Given the description of an element on the screen output the (x, y) to click on. 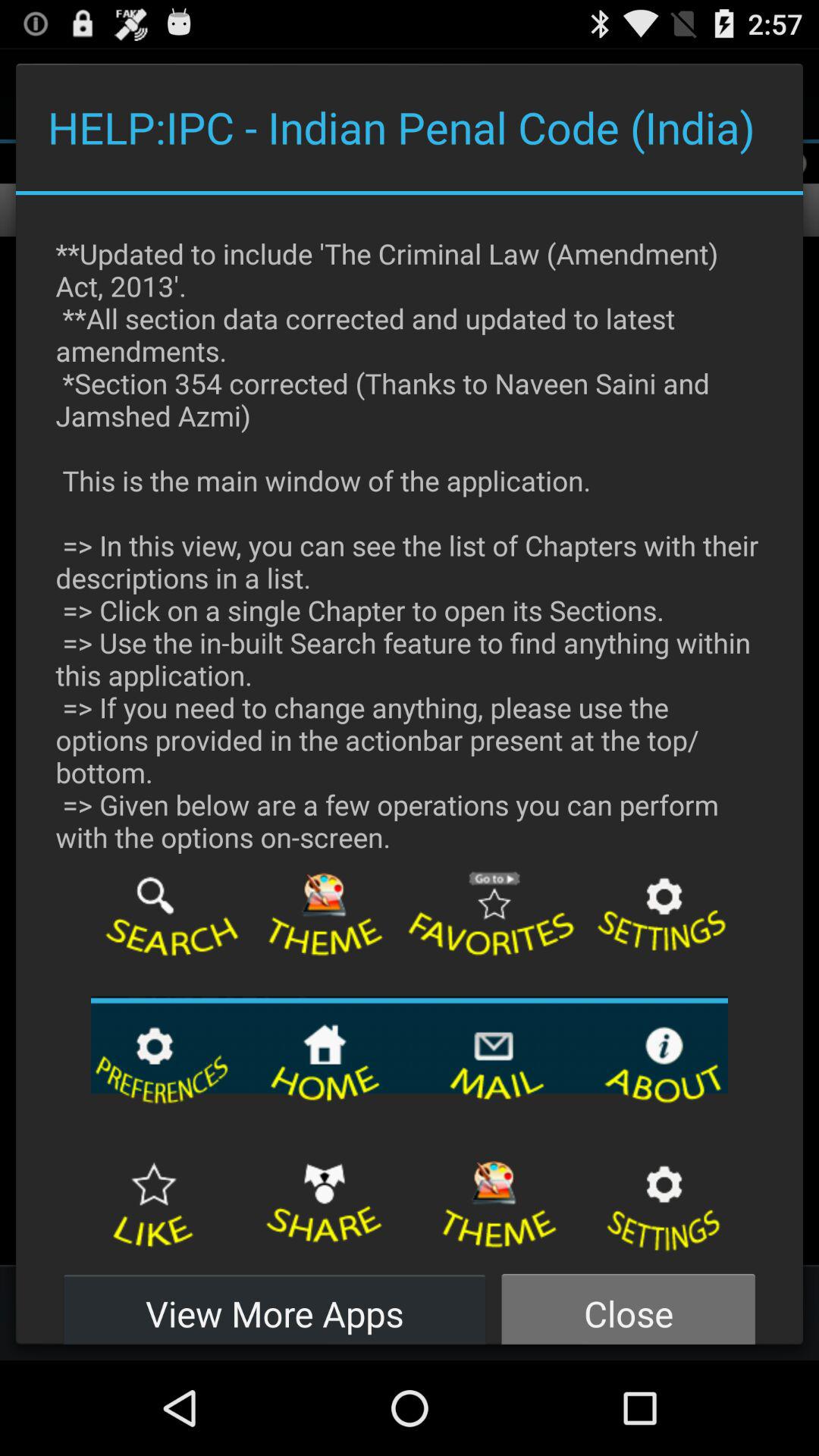
turn off the view more apps item (274, 1305)
